Given the description of an element on the screen output the (x, y) to click on. 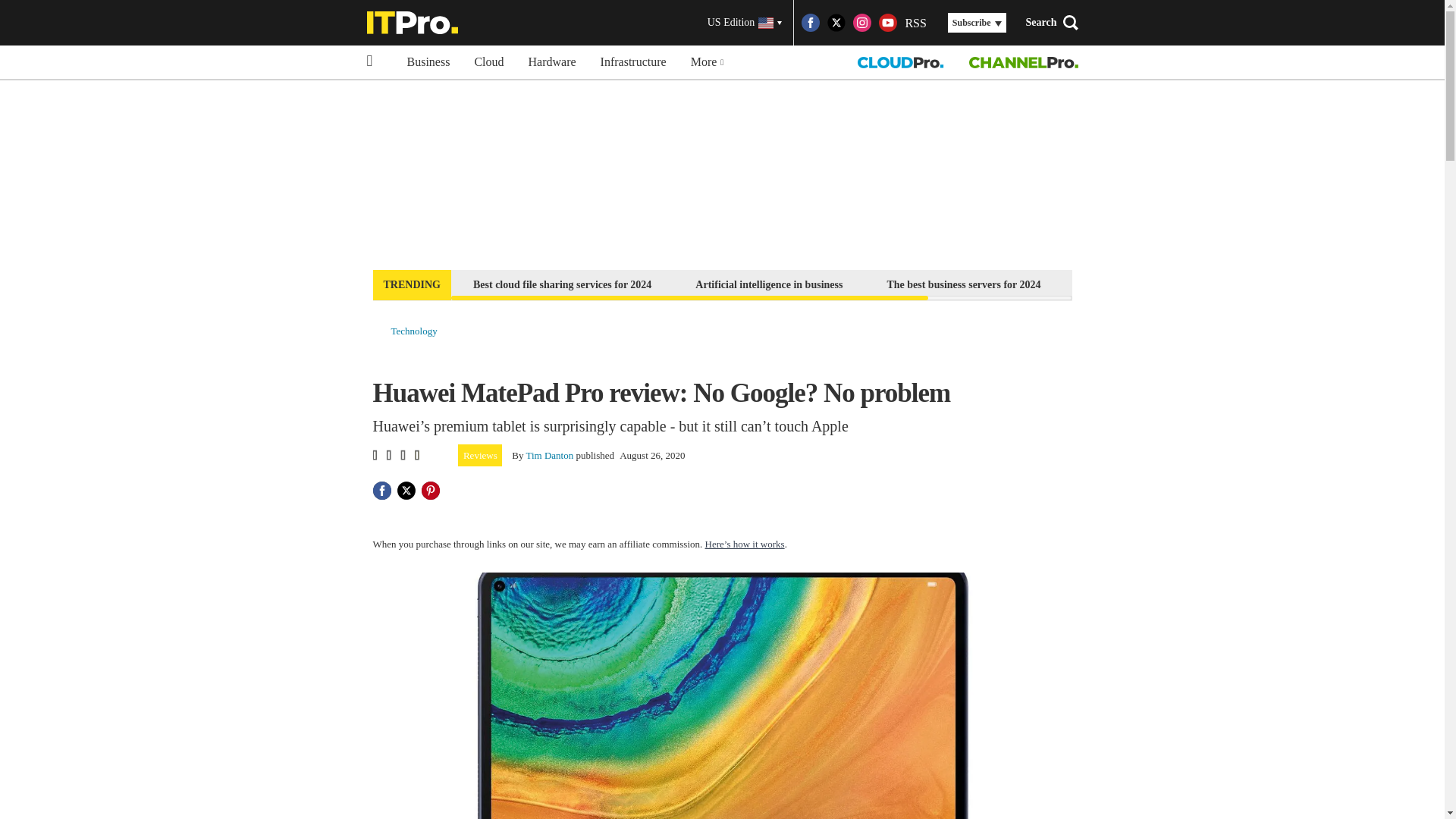
Hardware (552, 61)
Infrastructure (633, 61)
US Edition (745, 22)
Reviews (480, 455)
Tim Danton (549, 455)
RSS (915, 22)
Cloud (488, 61)
The best business servers for 2024 (962, 284)
Best cloud file sharing services for 2024 (561, 284)
Technology (414, 330)
Subscribe to the ITPro newsletter (1161, 284)
Artificial intelligence in business (768, 284)
Business (427, 61)
